Given the description of an element on the screen output the (x, y) to click on. 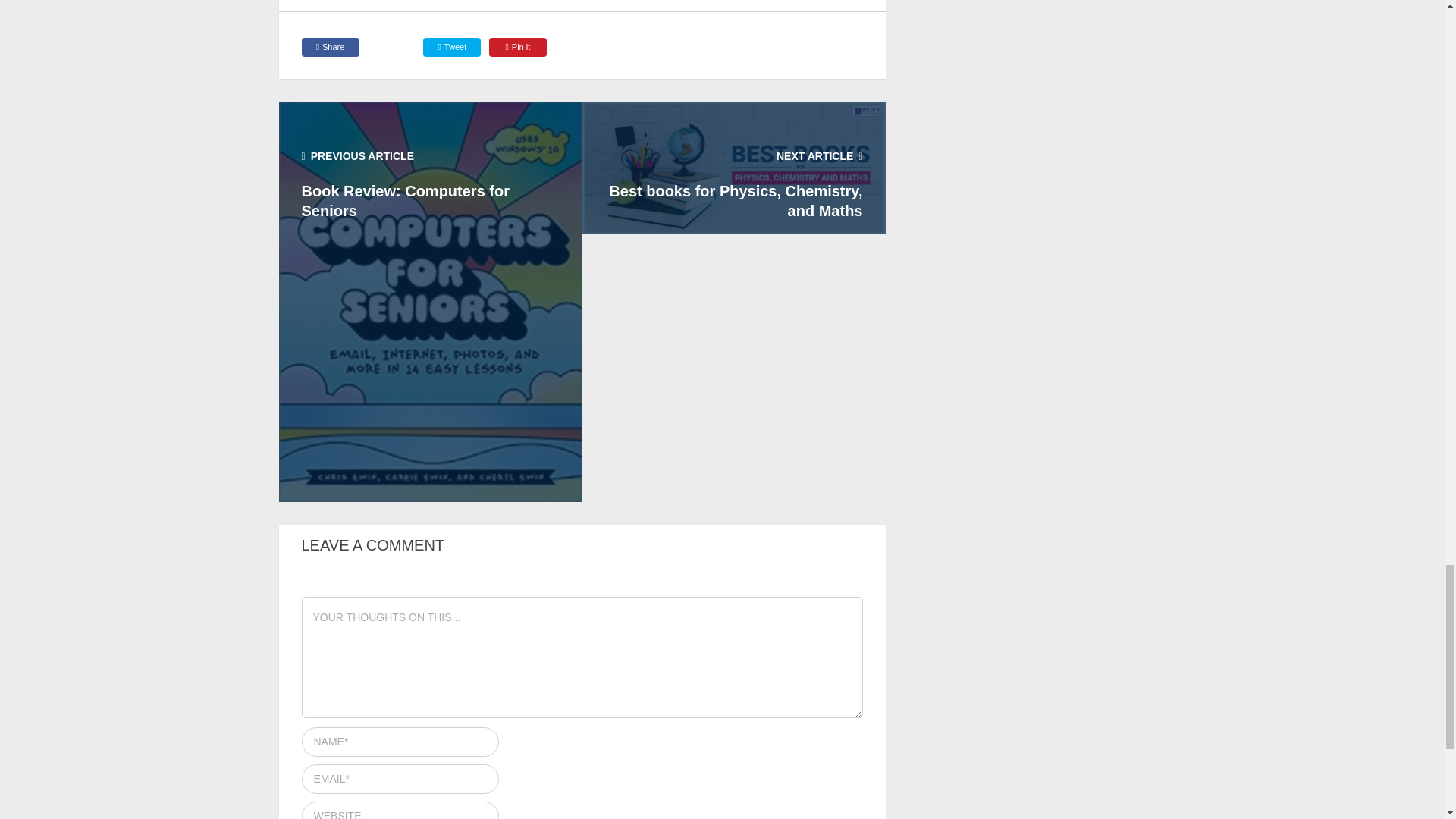
Tweet (451, 46)
Pin it (518, 46)
Share (330, 46)
